Given the description of an element on the screen output the (x, y) to click on. 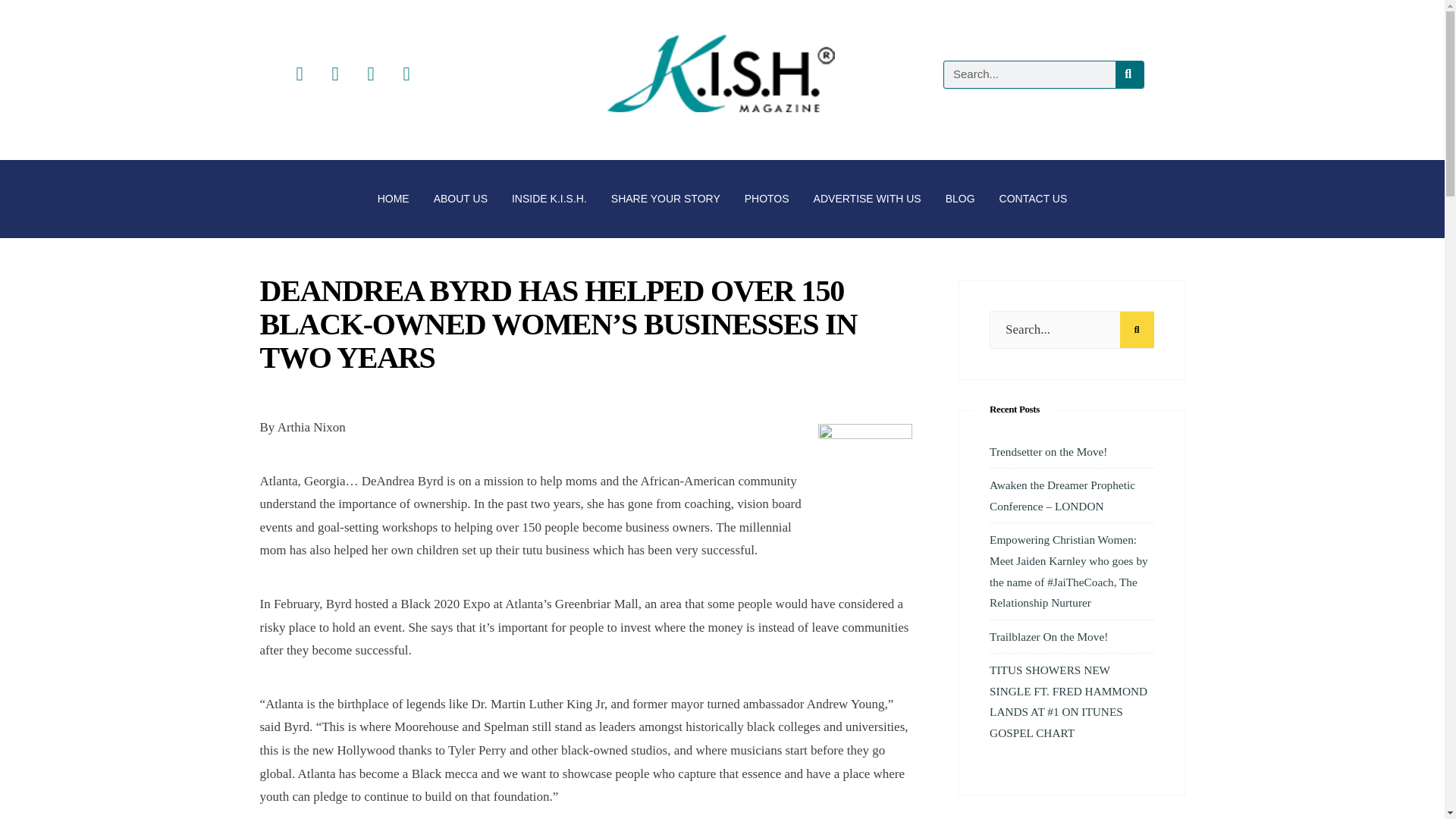
Search... (1071, 329)
ABOUT US (460, 198)
INSIDE K.I.S.H. (548, 198)
ADVERTISE WITH US (867, 198)
SHARE YOUR STORY (665, 198)
CONTACT US (1033, 198)
